Given the description of an element on the screen output the (x, y) to click on. 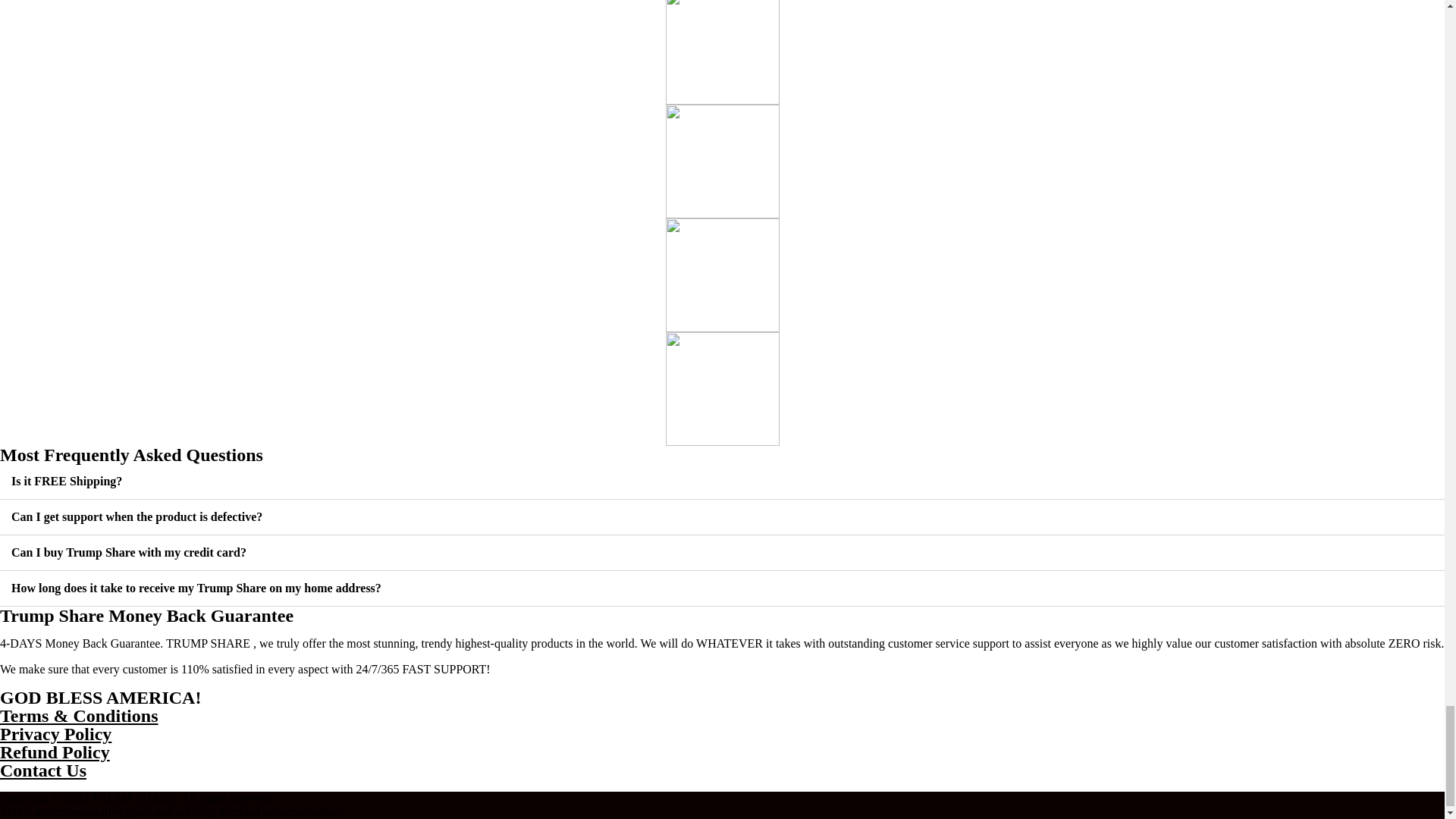
Can I get support when the product is defective? (136, 516)
Contact Us (42, 770)
Is it FREE Shipping? (66, 481)
Can I buy Trump Share with my credit card? (128, 552)
Privacy Policy (56, 733)
Refund Policy (55, 752)
